Given the description of an element on the screen output the (x, y) to click on. 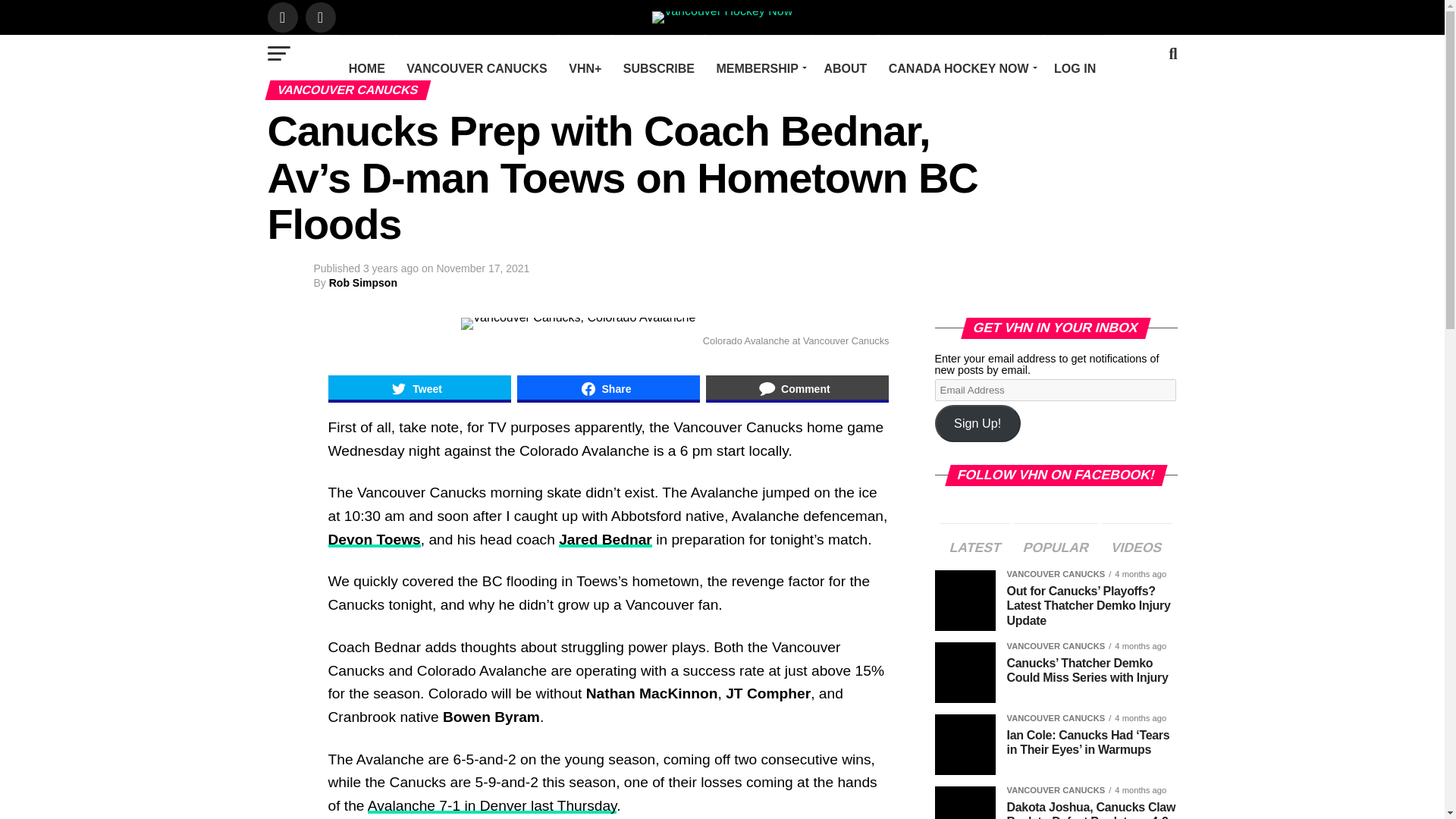
Share on Comment (797, 388)
HOME (366, 68)
Posts by Rob Simpson (363, 282)
VANCOUVER CANUCKS (476, 68)
SUBSCRIBE (658, 68)
Share on Share (608, 388)
MEMBERSHIP (758, 68)
Share on Tweet (419, 388)
